Given the description of an element on the screen output the (x, y) to click on. 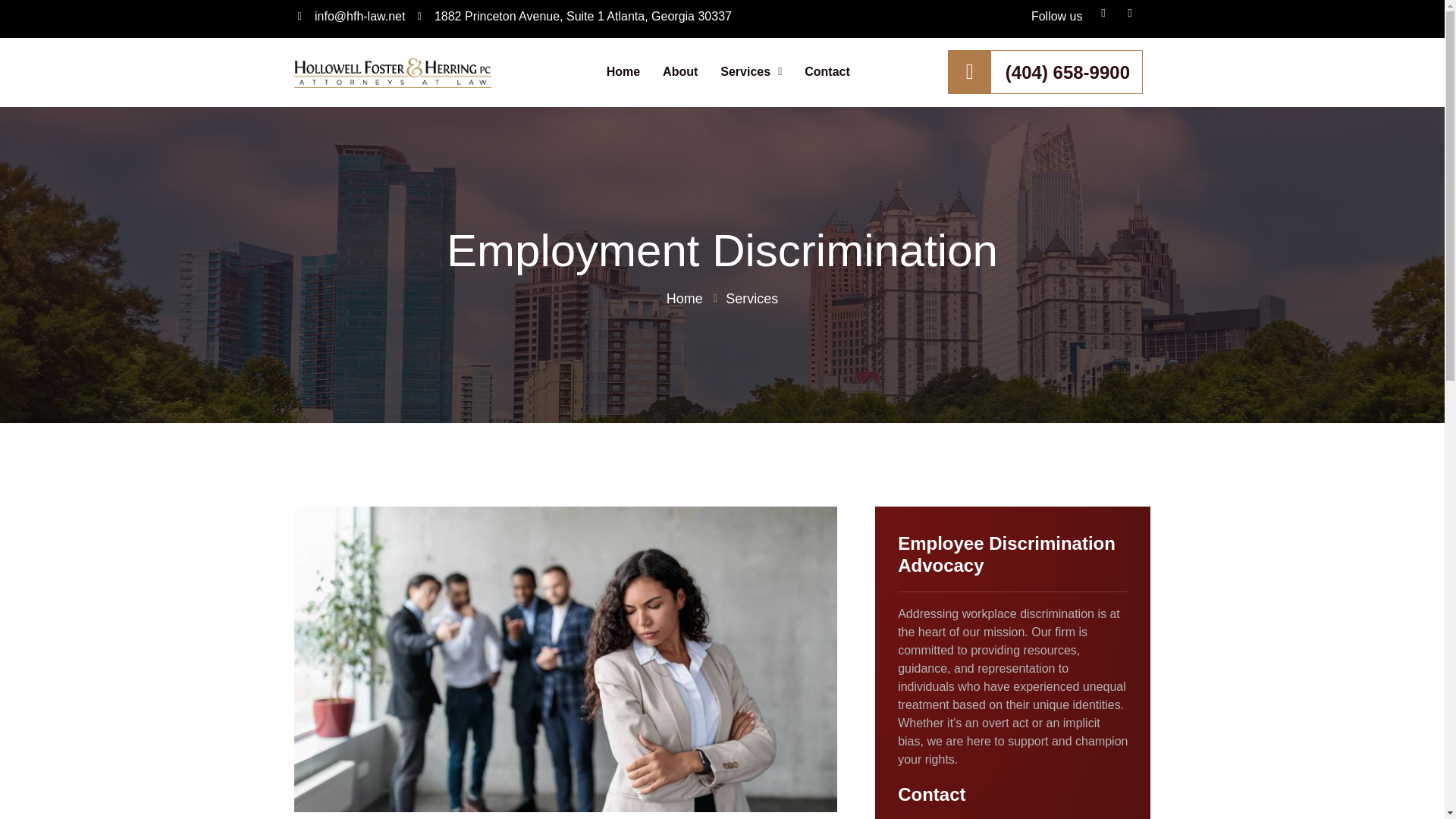
Services (743, 299)
Home (622, 71)
Home (684, 299)
About (679, 71)
Employment Discrimination (722, 250)
Contact (827, 71)
Services (751, 71)
